Given the description of an element on the screen output the (x, y) to click on. 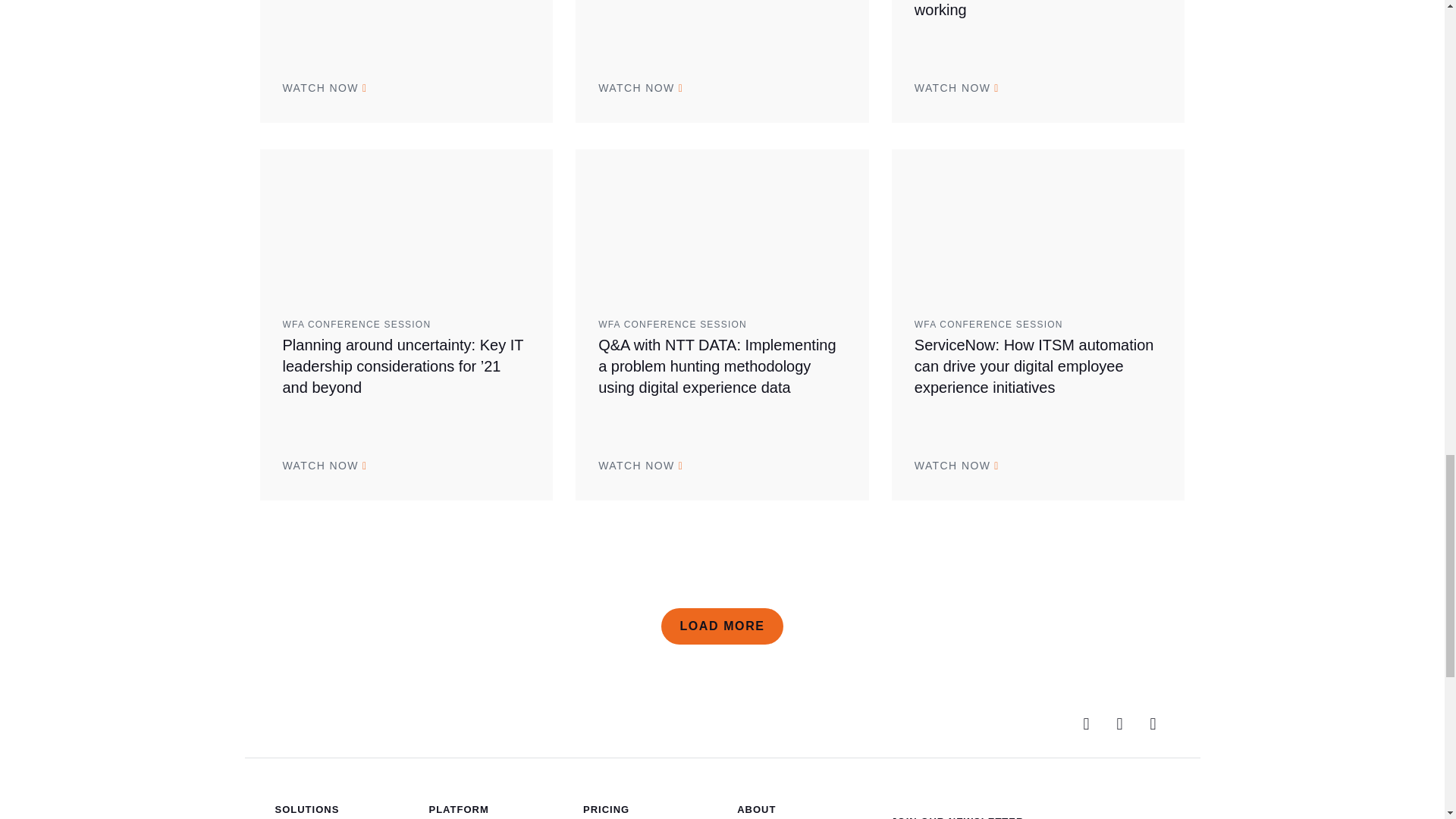
John DuBois (406, 222)
